Given the description of an element on the screen output the (x, y) to click on. 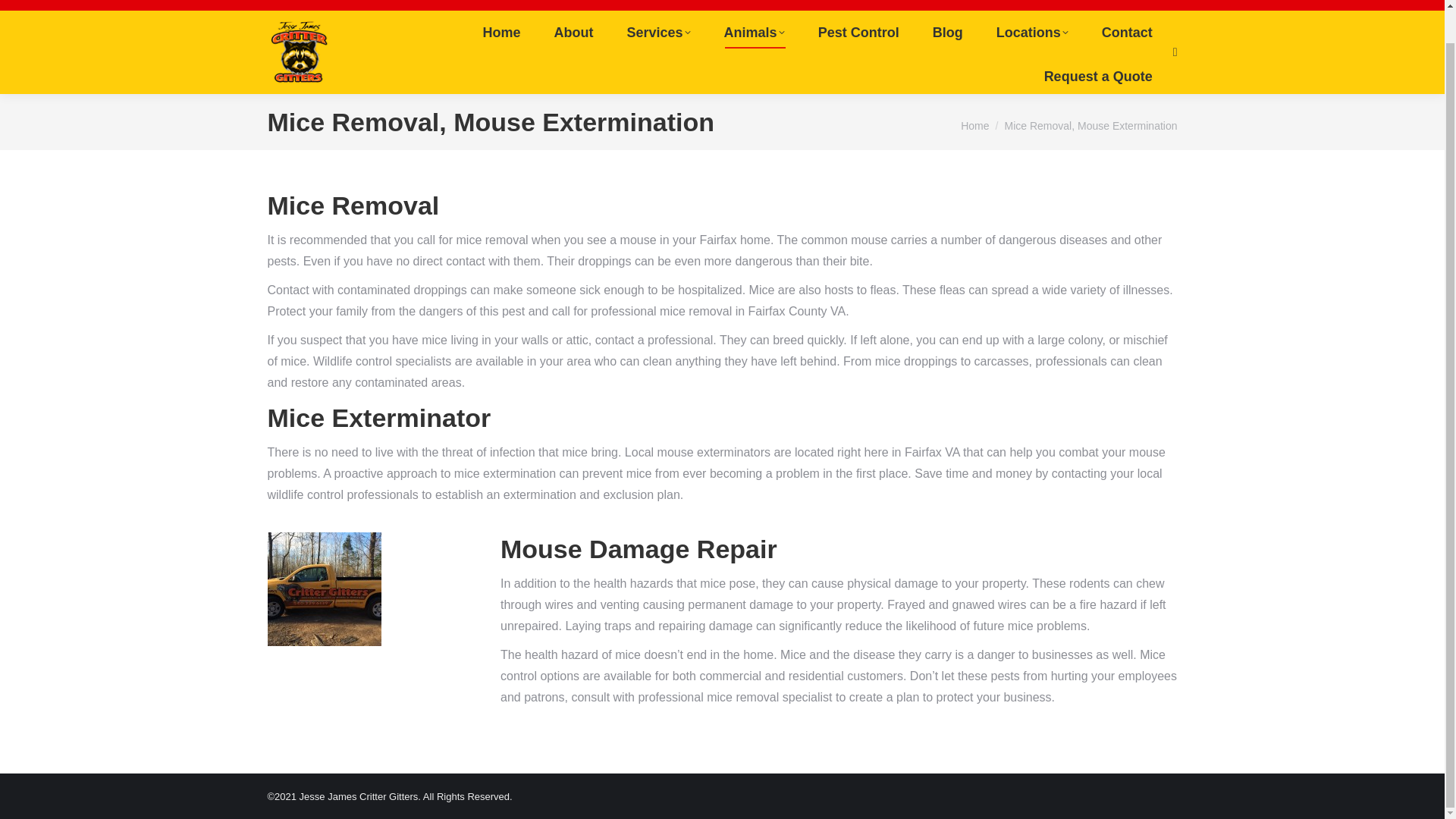
Services (658, 32)
About (573, 32)
Animals (753, 32)
Blog (947, 32)
Home (974, 125)
jesse james wildlife control (323, 589)
Home (501, 32)
